Given the description of an element on the screen output the (x, y) to click on. 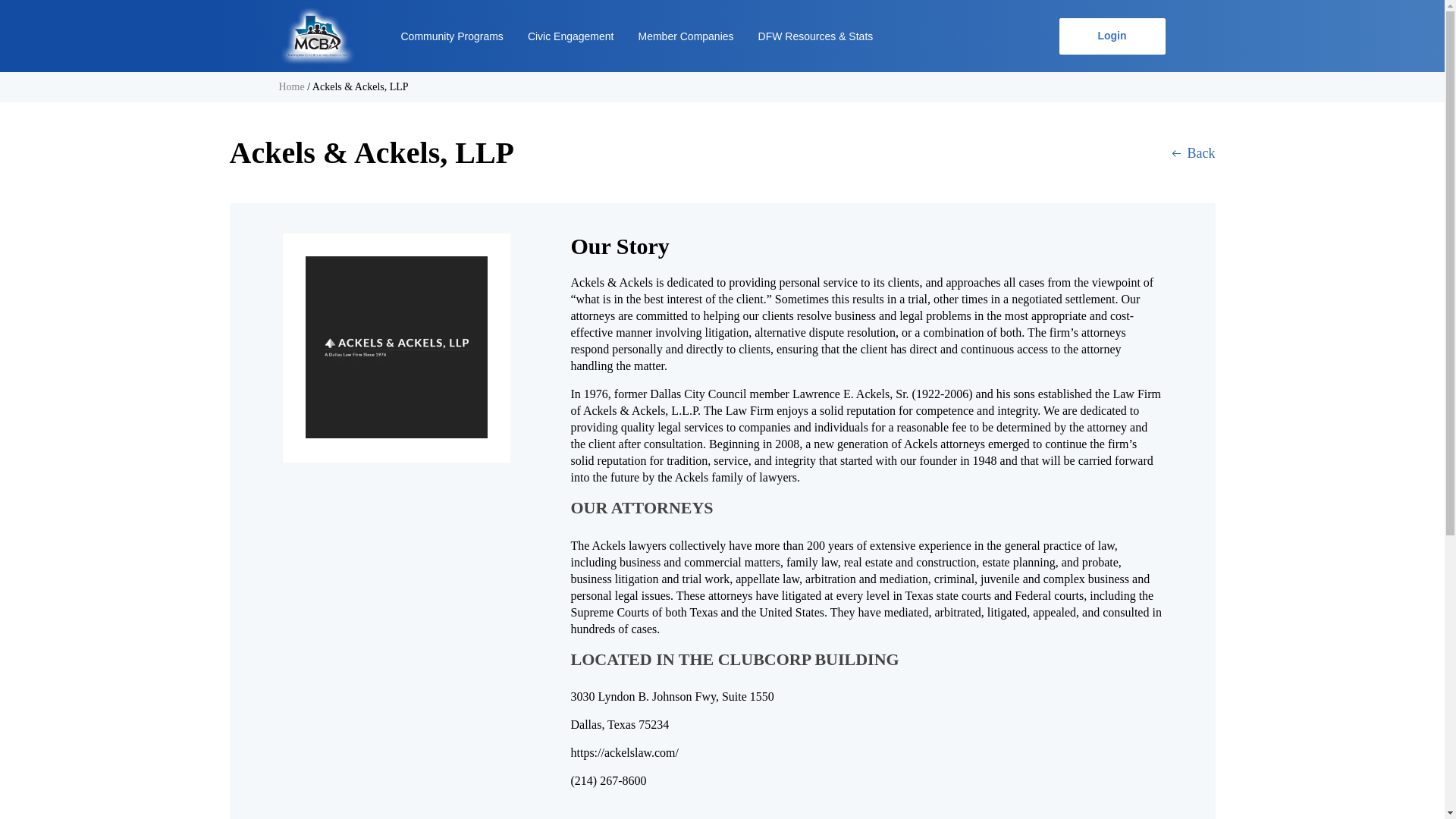
Member Companies (686, 35)
Civic Engagement (570, 35)
Community Programs (451, 35)
Home (291, 86)
Back (1193, 152)
Login (1111, 36)
